Given the description of an element on the screen output the (x, y) to click on. 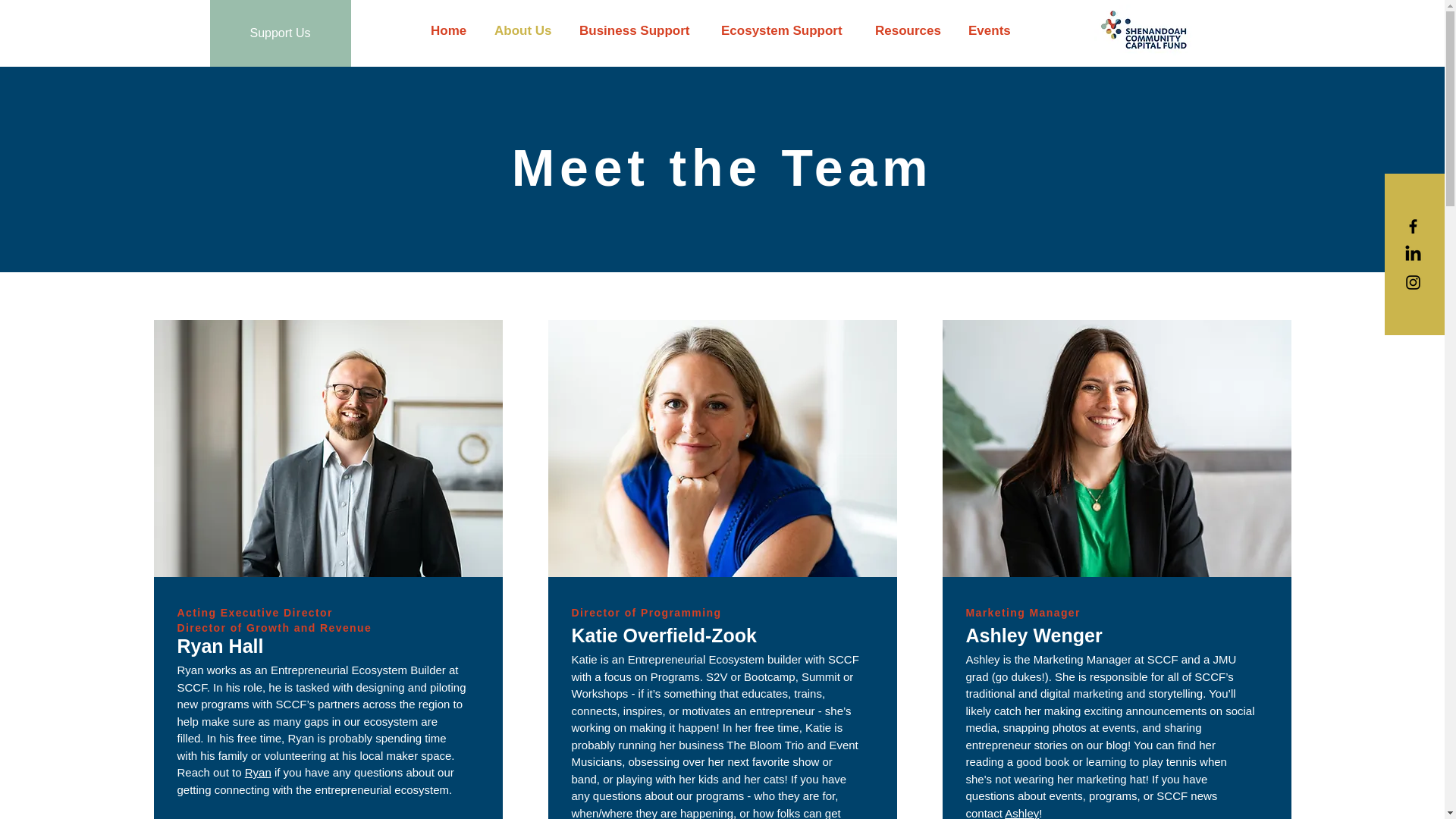
About Us (525, 30)
Ashley (1021, 812)
Support Us (279, 33)
Business Support (638, 30)
Ecosystem Support (786, 30)
Home (451, 30)
Ryan (257, 771)
Events (990, 30)
